Given the description of an element on the screen output the (x, y) to click on. 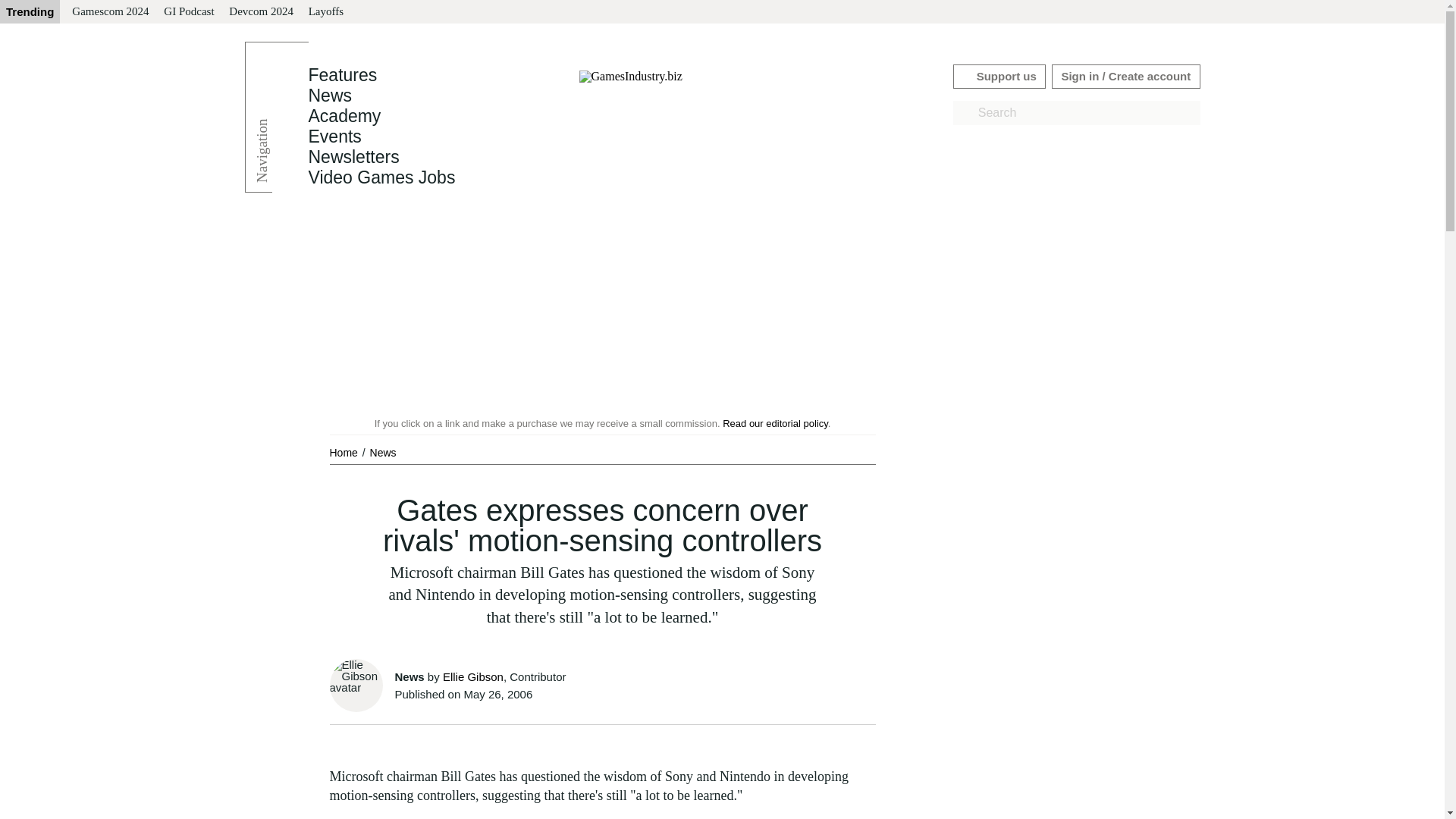
Newsletters (352, 157)
Gamescom 2024 (109, 11)
GI Podcast (188, 11)
Academy (343, 116)
Home (344, 452)
Video Games Jobs (380, 177)
Events (334, 136)
Features (342, 75)
News (382, 452)
Features (342, 75)
